Given the description of an element on the screen output the (x, y) to click on. 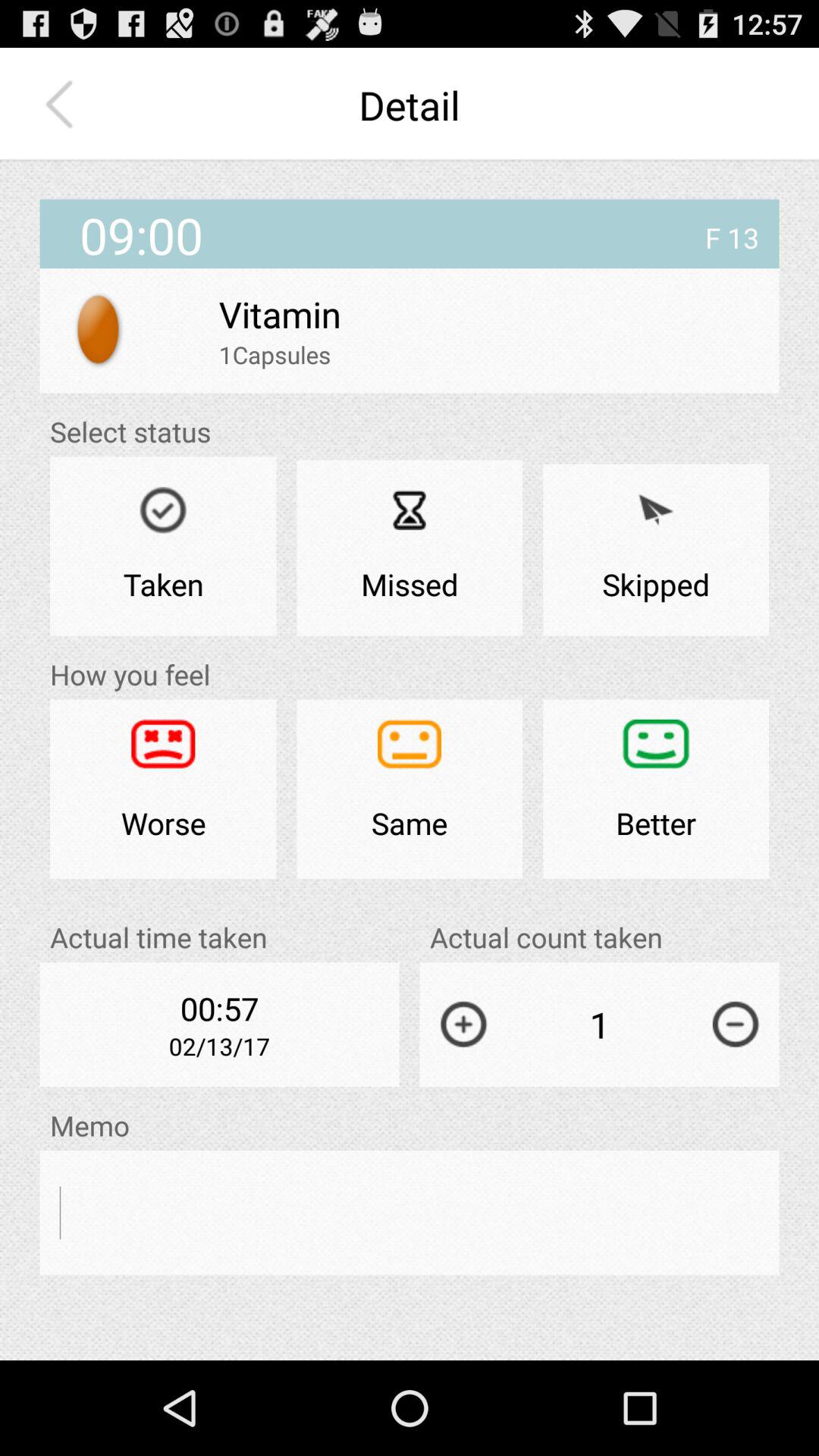
choose the icon next to the same (655, 788)
